Given the description of an element on the screen output the (x, y) to click on. 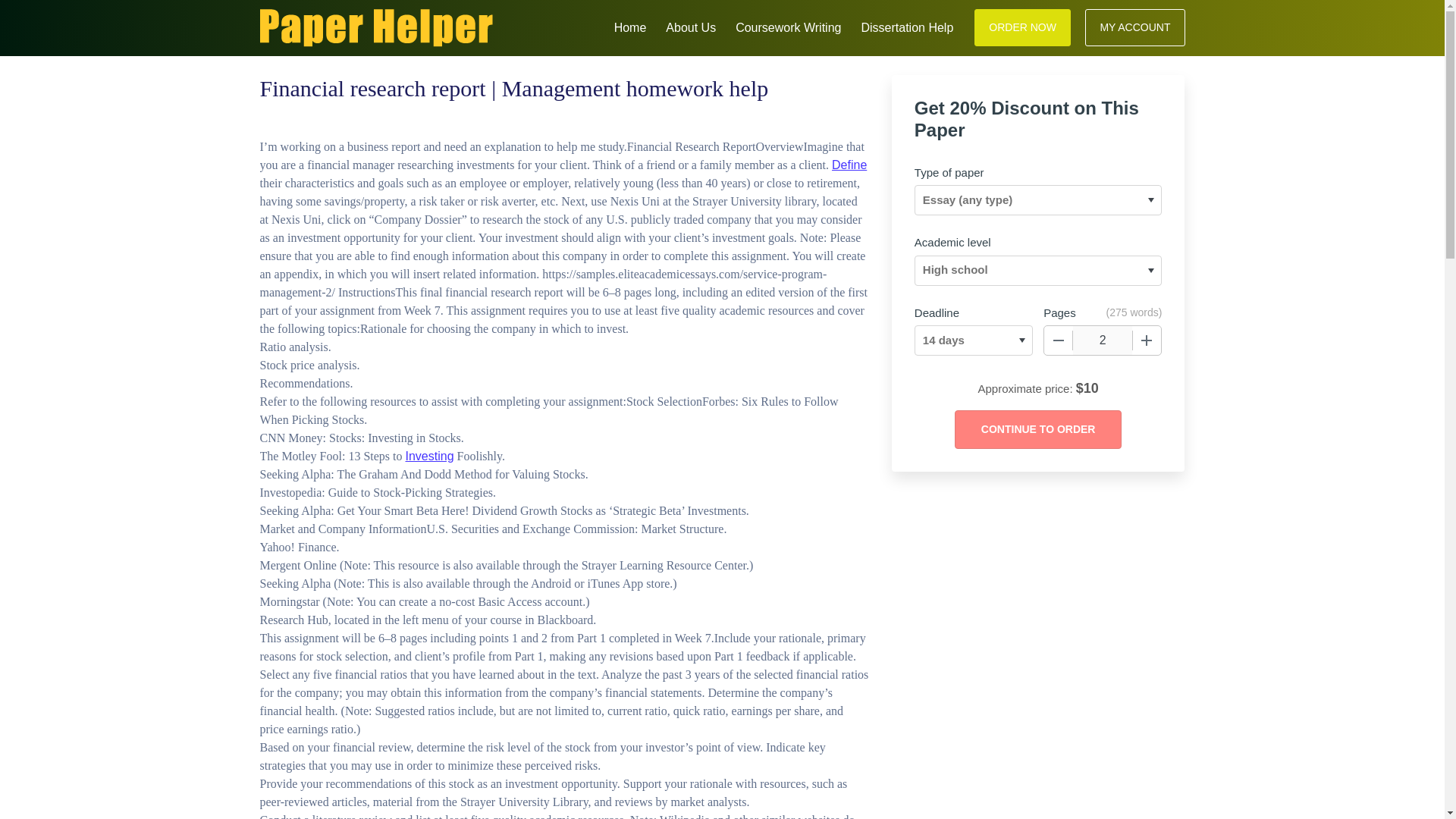
Coursework Writing (788, 25)
Investing (428, 455)
2 (1102, 339)
Continue to order (1038, 429)
Dissertation Help (906, 25)
Continue to order (1038, 429)
Decrease (1058, 339)
Home (630, 25)
About Us (690, 25)
Dissertation Help (906, 25)
Increase (1146, 339)
Coursework Writing (788, 25)
Define (848, 164)
About Us (690, 25)
ORDER NOW (1022, 27)
